Given the description of an element on the screen output the (x, y) to click on. 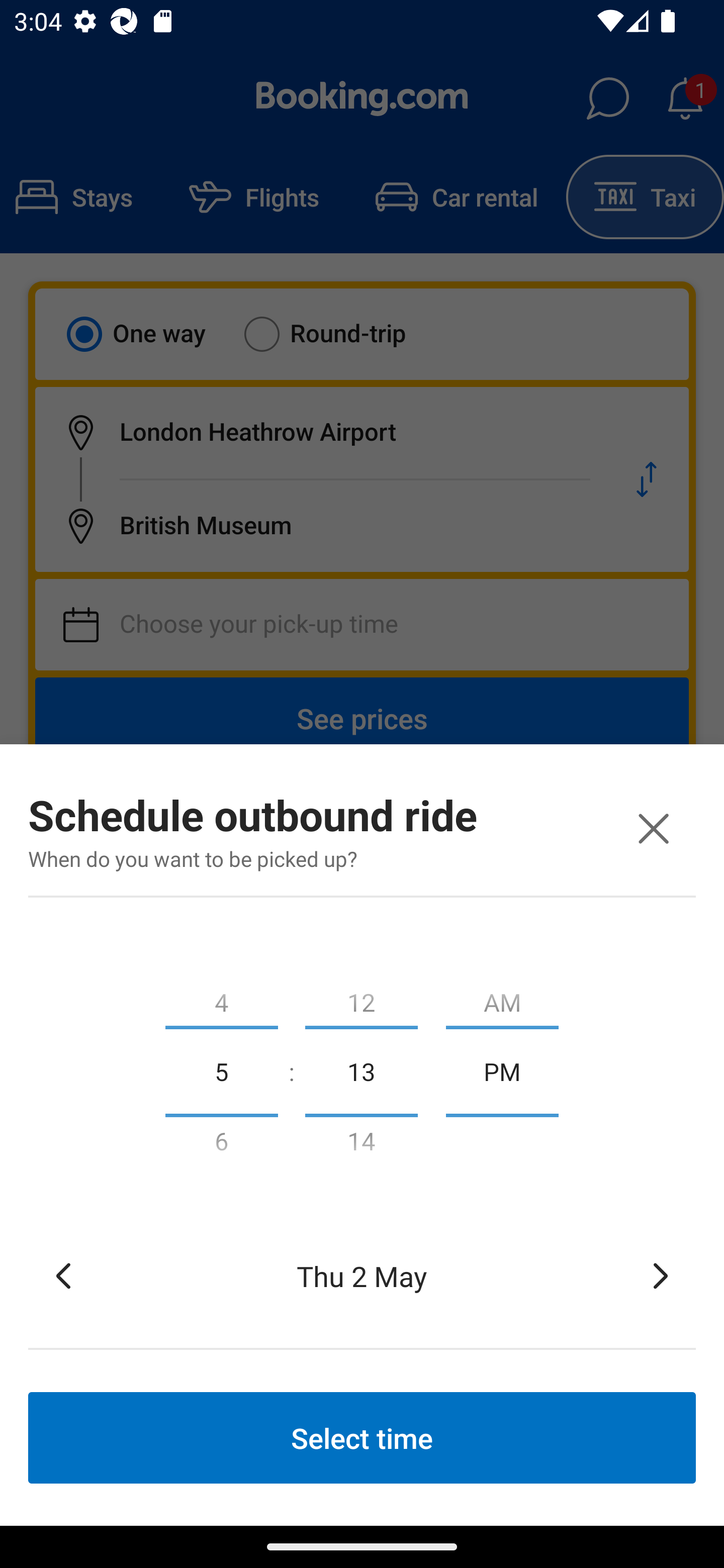
Close window (653, 828)
4 (221, 997)
12 (361, 997)
AM (501, 997)
5 (221, 1070)
13 (361, 1070)
PM (501, 1070)
6 (221, 1144)
14 (361, 1144)
Tap to move back to the previous date (63, 1275)
Tap to move forward to the next date (660, 1275)
Thu 2 May Selected date, Thursday, 2 May (361, 1275)
Select time (361, 1437)
